Given the description of an element on the screen output the (x, y) to click on. 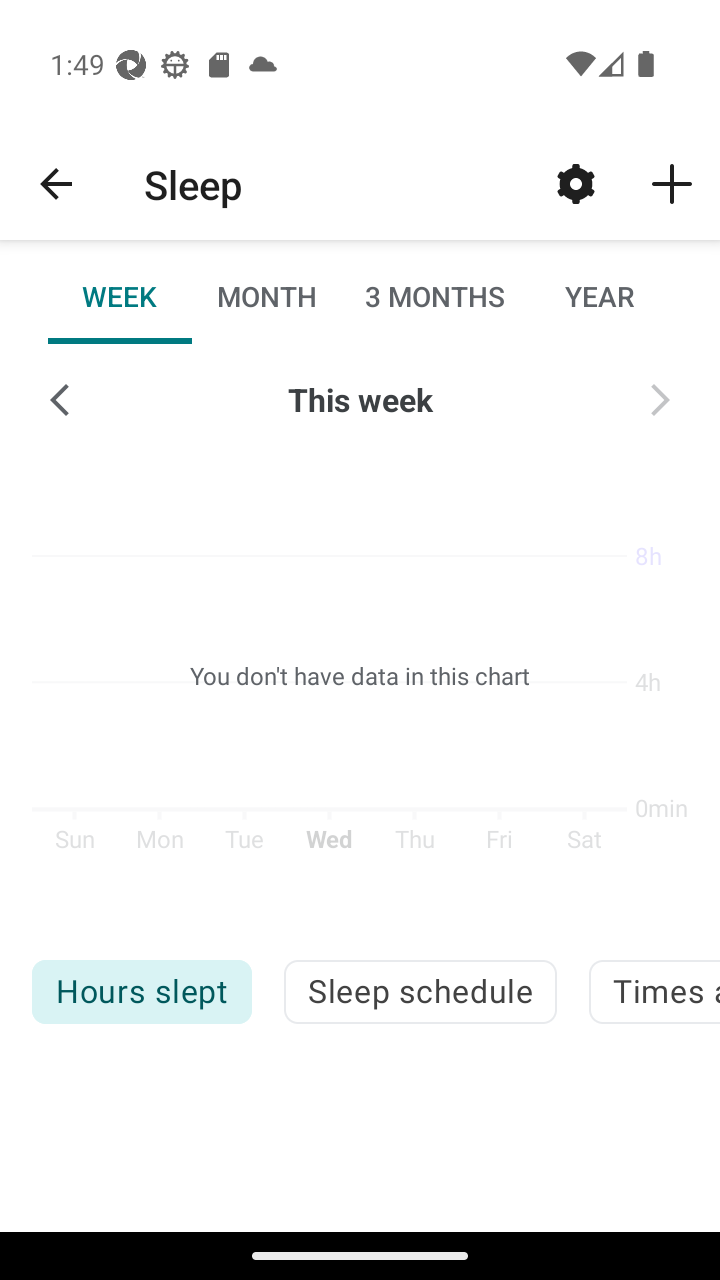
Navigate up (56, 184)
Adjust your goal (575, 183)
Tap to track sleep or
 log a past record (672, 183)
MONTH (265, 296)
3 MONTHS (433, 296)
YEAR (599, 296)
Previous (60, 399)
Next (659, 399)
Hours slept (141, 991)
Sleep schedule (420, 991)
Times awakened (654, 991)
